Given the description of an element on the screen output the (x, y) to click on. 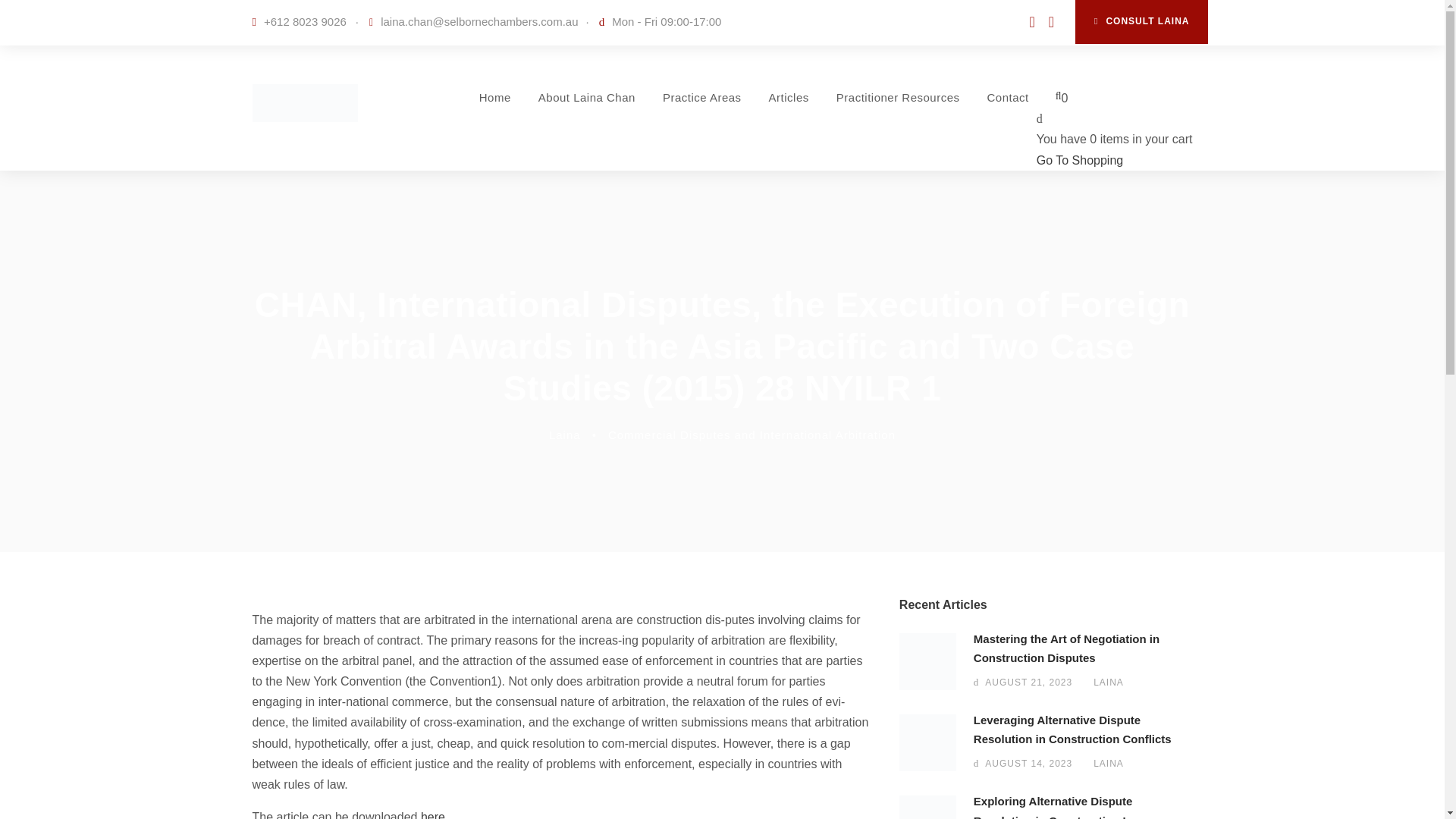
construction workers (927, 661)
Practice Areas (701, 118)
Home (495, 118)
Posts by Laina (1108, 682)
Posts by Laina (564, 434)
twitter (1051, 22)
Construction Law (927, 807)
Posts by Laina (1108, 763)
linkedin (1031, 22)
logo header 1 (303, 103)
construction conflicts (927, 742)
About Laina Chan (586, 118)
CONSULT LAINA (1141, 22)
